Given the description of an element on the screen output the (x, y) to click on. 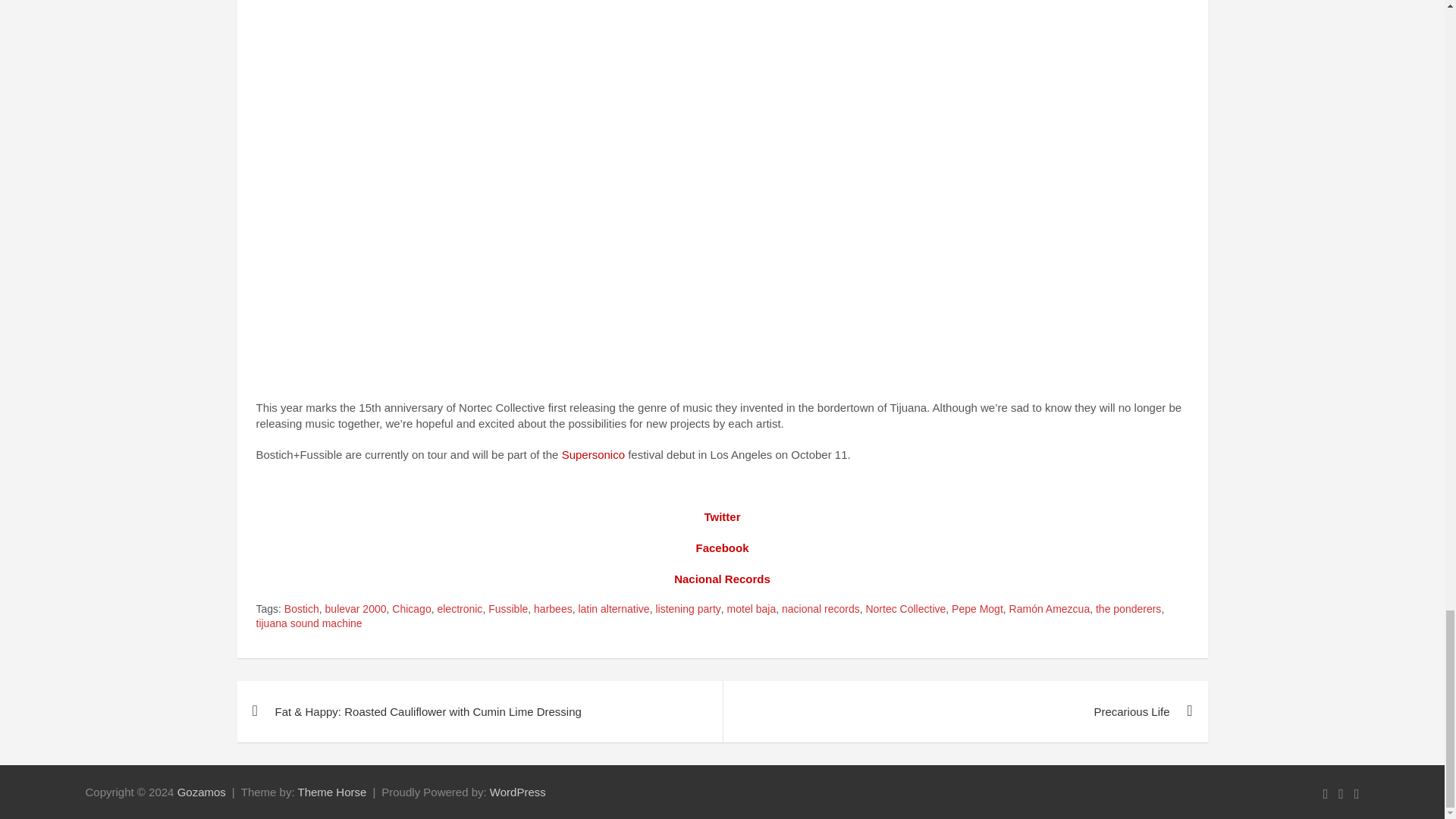
listening party (687, 609)
Nortec Collective (904, 609)
Bostich (300, 609)
latin alternative (613, 609)
tijuana sound machine (309, 623)
Precarious Life (964, 711)
Gozamos (201, 791)
WordPress (517, 791)
Supersonico (593, 454)
nacional records (820, 609)
Fussible (507, 609)
Twitter (721, 516)
Facebook (721, 547)
Theme Horse (331, 791)
electronic (458, 609)
